Given the description of an element on the screen output the (x, y) to click on. 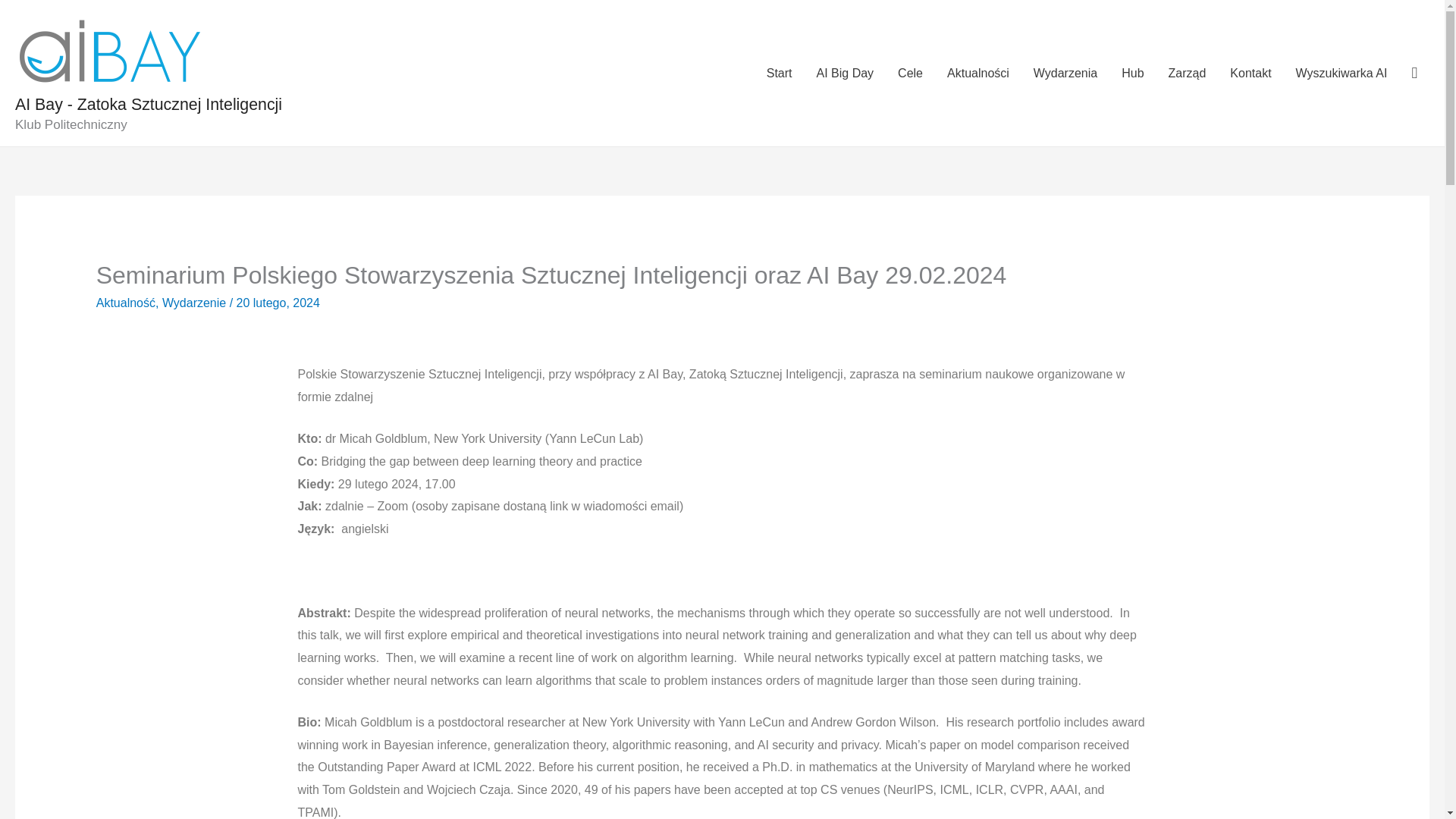
Wydarzenie (193, 302)
Search (18, 17)
Cele (909, 73)
Wydarzenia (1065, 73)
Wyszukiwarka AI (1341, 73)
Hub (1132, 73)
Start (779, 73)
Kontakt (1249, 73)
AI Bay - Zatoka Sztucznej Inteligencji (148, 104)
AI Big Day (845, 73)
